Given the description of an element on the screen output the (x, y) to click on. 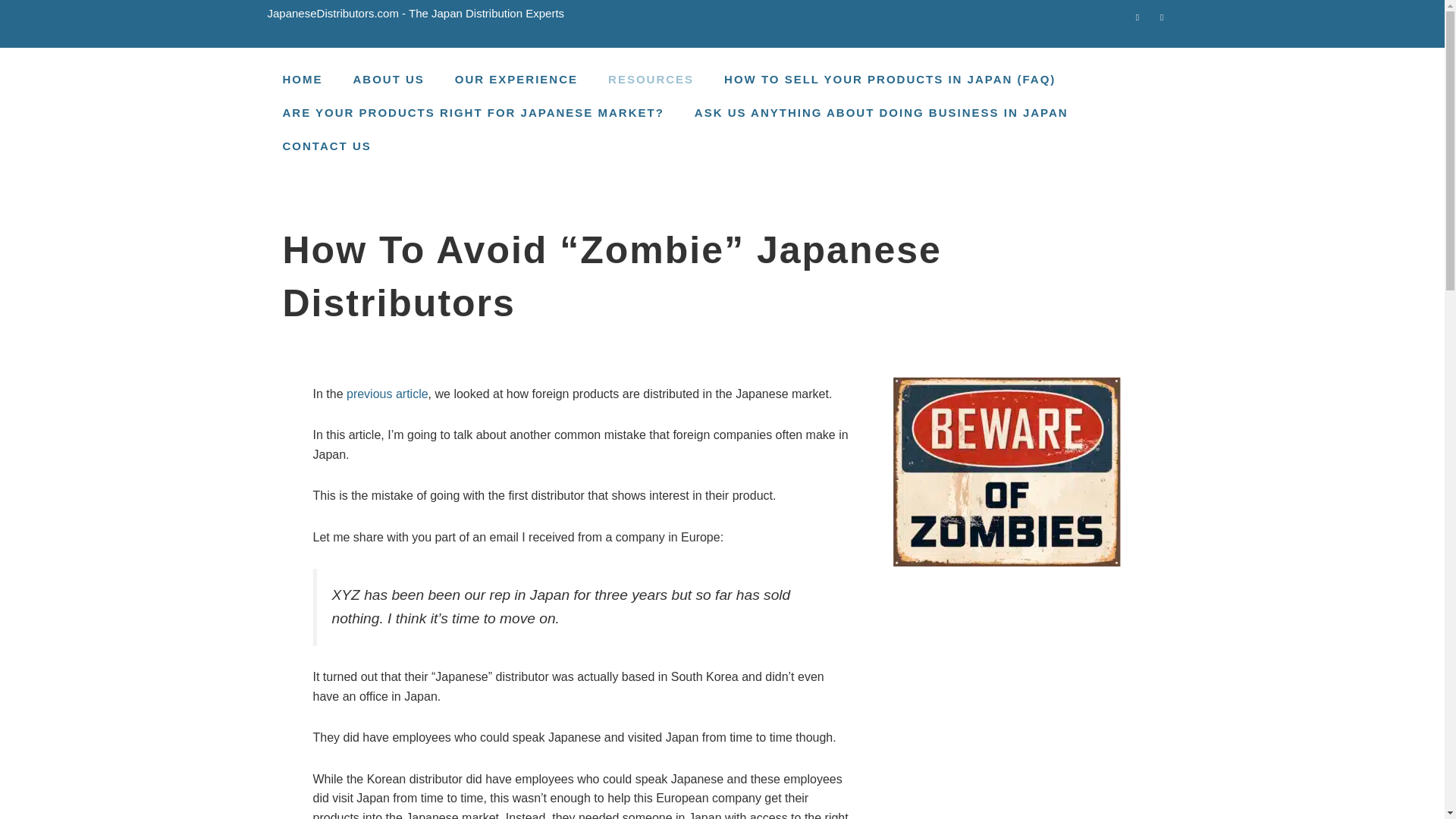
LinkedIn (1161, 13)
CONTACT US (325, 145)
Contact (1137, 13)
ASK US ANYTHING ABOUT DOING BUSINESS IN JAPAN (881, 112)
HOME (301, 79)
previous article (387, 393)
JapaneseDistributors.com - The Japan Distribution Experts (415, 12)
RESOURCES (650, 79)
ABOUT US (388, 79)
OUR EXPERIENCE (515, 79)
